Given the description of an element on the screen output the (x, y) to click on. 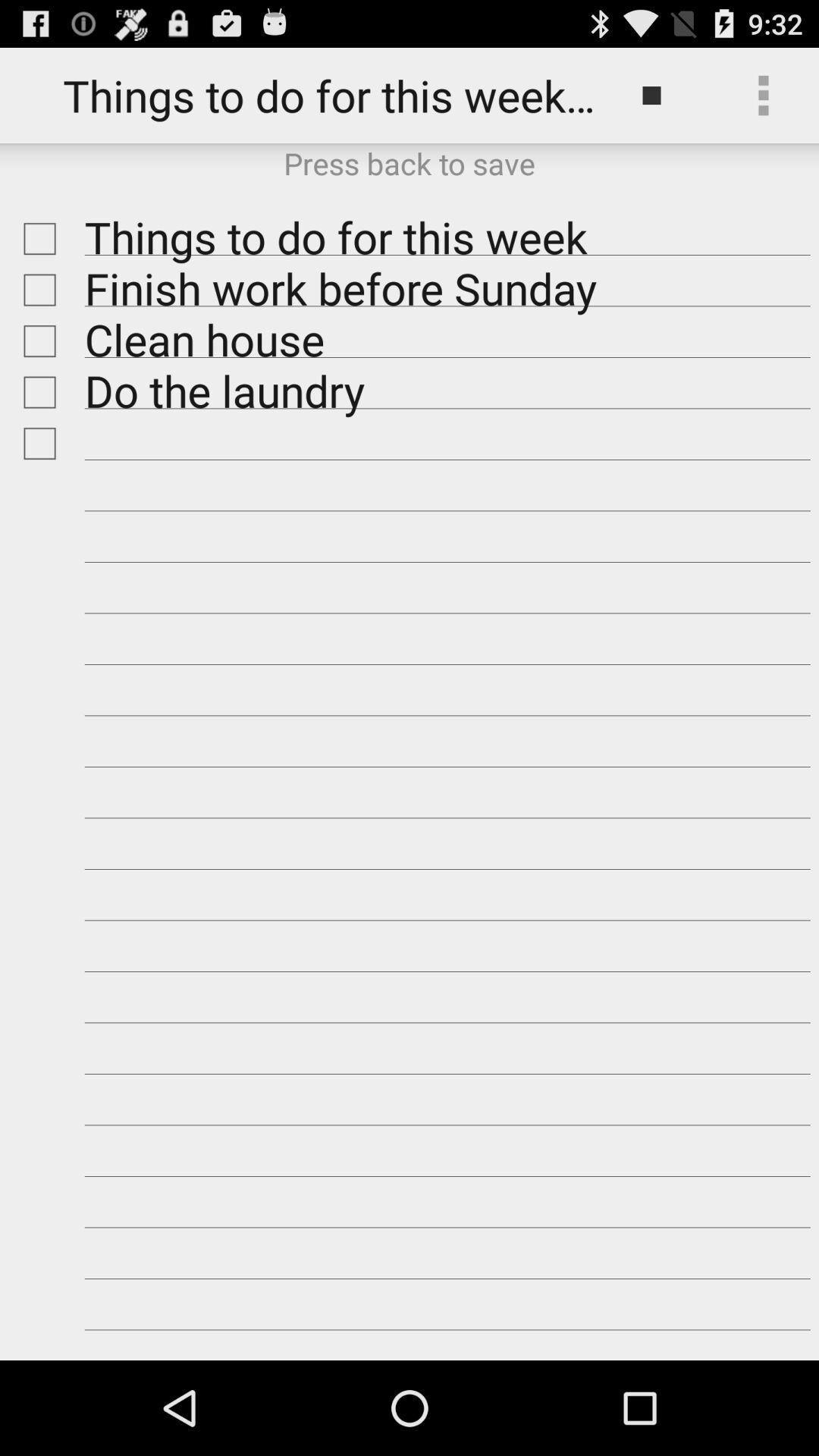
check box when complete (35, 238)
